Given the description of an element on the screen output the (x, y) to click on. 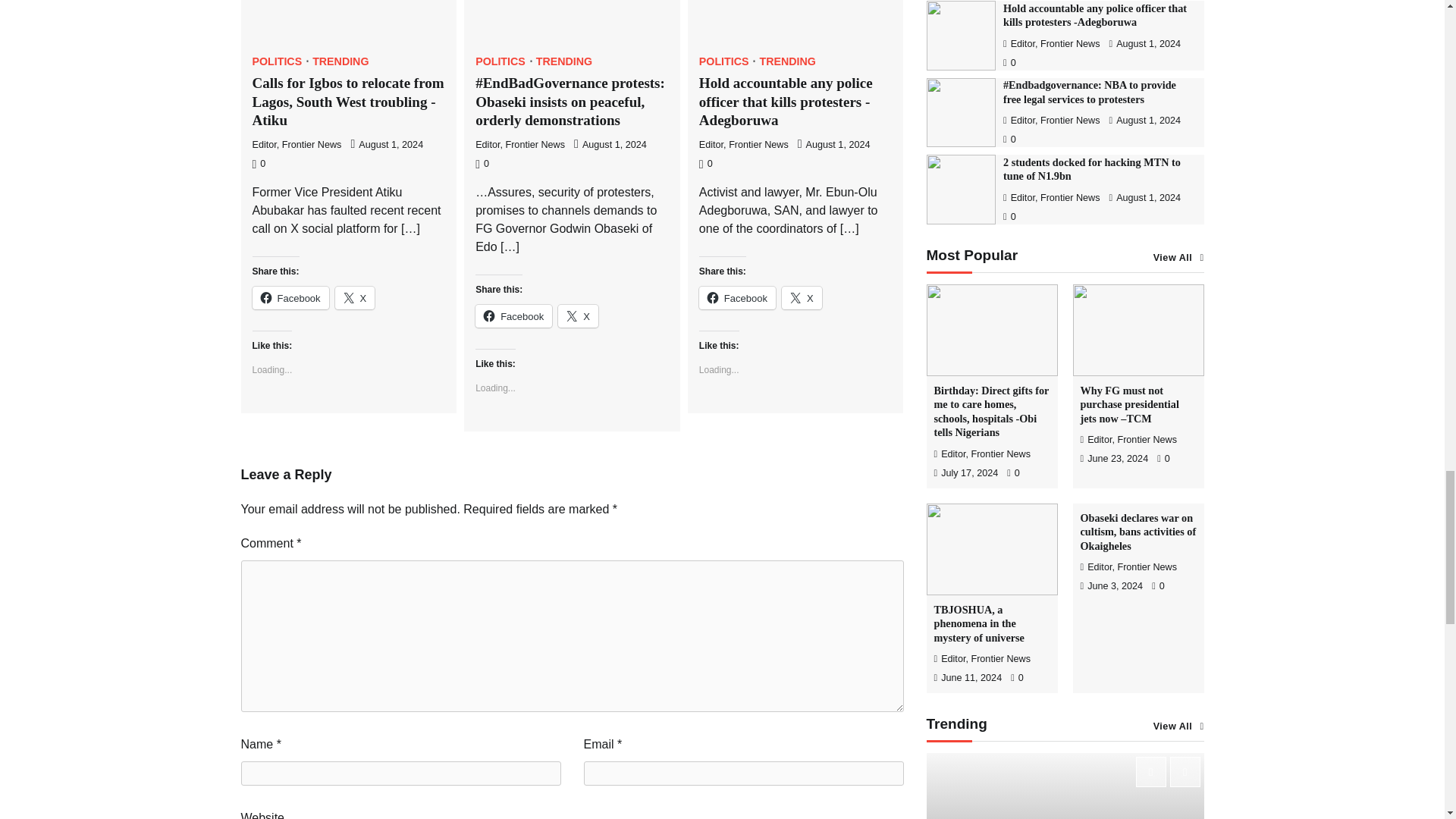
Click to share on Facebook (290, 297)
POLITICS (279, 61)
Facebook (290, 297)
Click to share on X (801, 297)
Click to share on X (577, 315)
Editor, Frontier News (295, 144)
Click to share on X (354, 297)
Click to share on Facebook (737, 297)
TRENDING (340, 61)
Click to share on Facebook (513, 315)
